Given the description of an element on the screen output the (x, y) to click on. 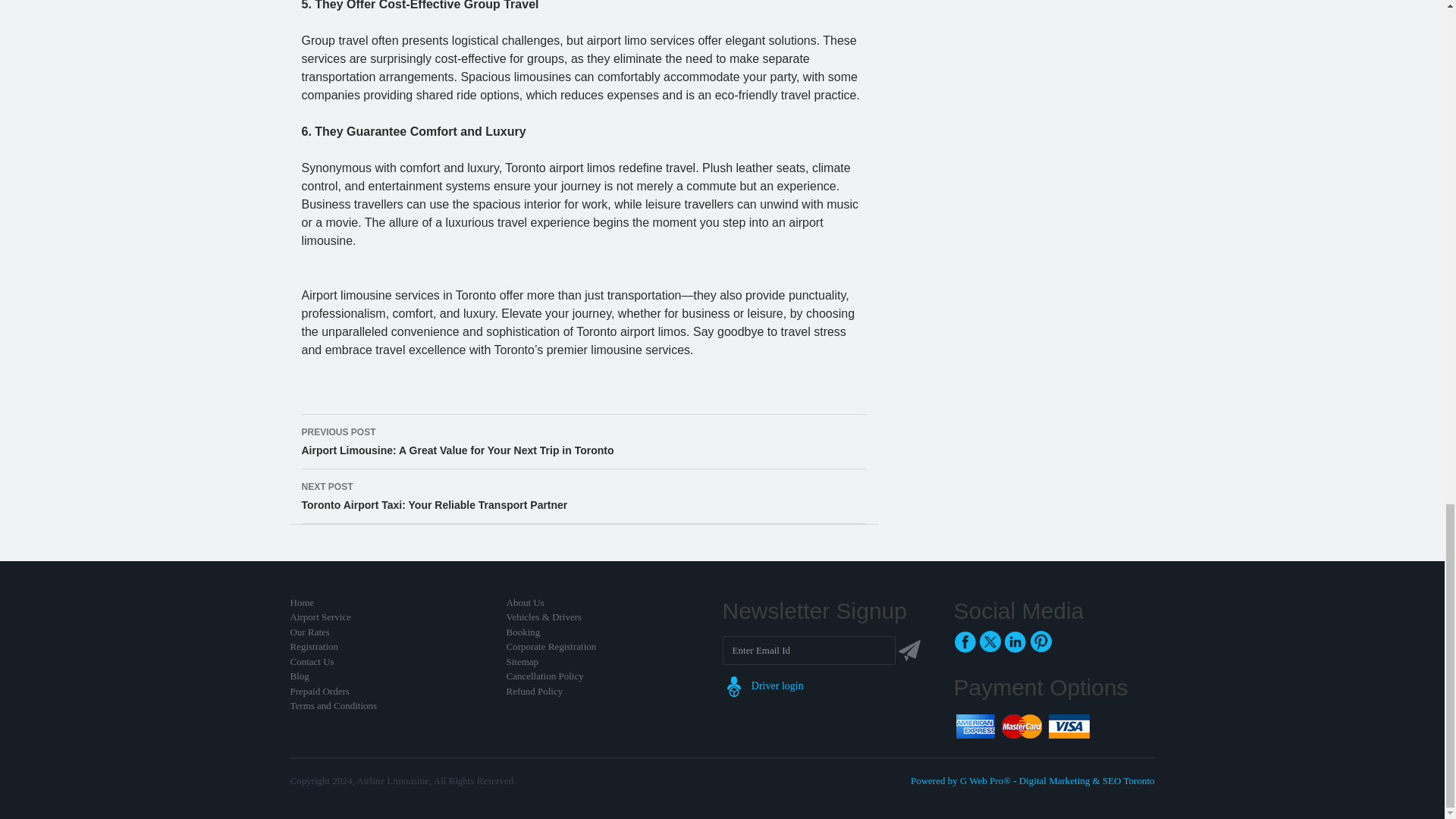
Blog (298, 675)
Airport Service (319, 616)
Contact Us (311, 661)
Registration (313, 645)
Prepaid Orders (319, 690)
Home (301, 602)
Our Rates (309, 632)
